Given the description of an element on the screen output the (x, y) to click on. 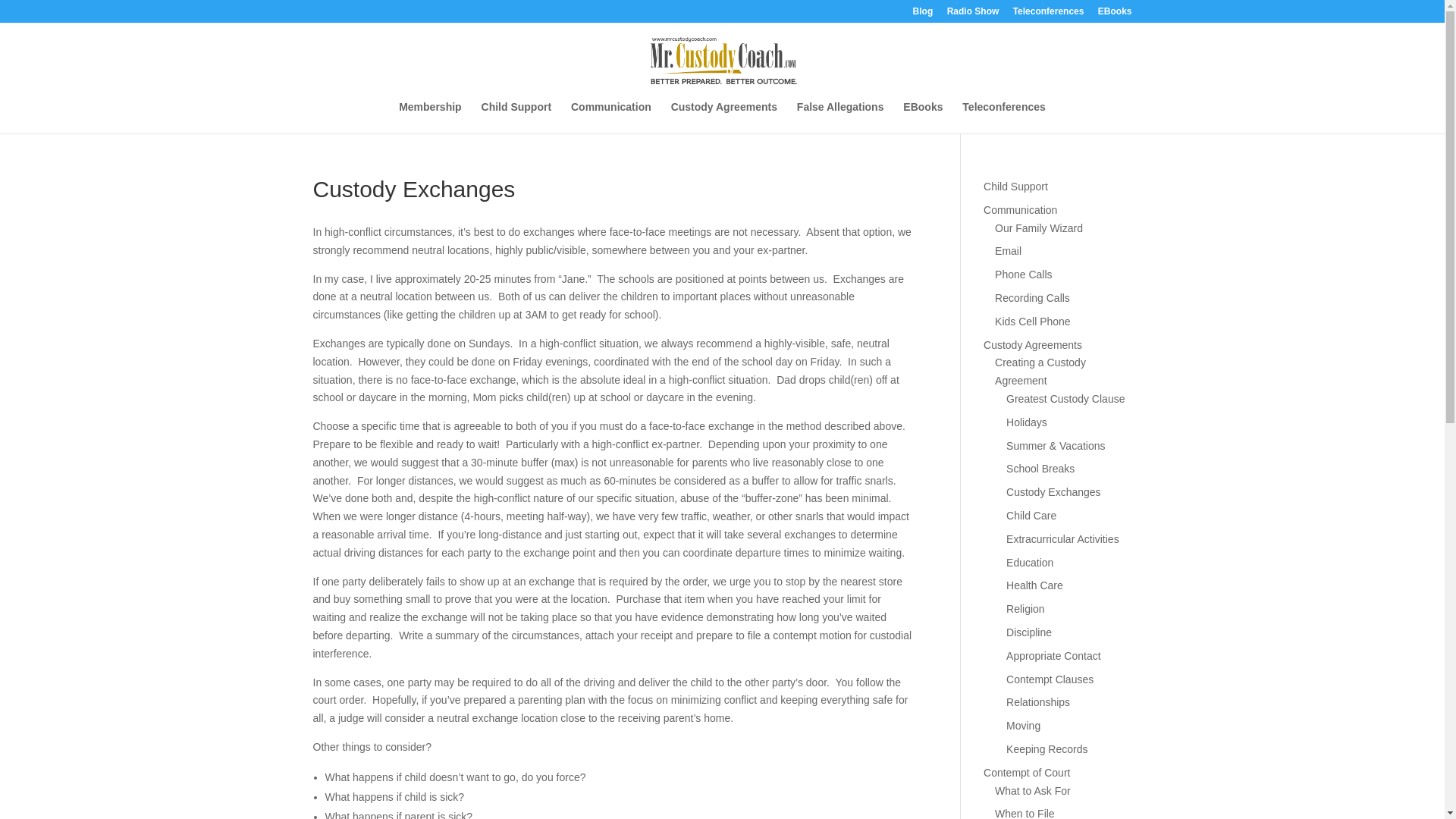
Custody Agreements (724, 117)
Phone Calls (1023, 274)
Custody Agreements (1032, 345)
Recording Calls (1032, 297)
Communication (1020, 209)
Membership (429, 117)
School Breaks (1040, 468)
Communication (610, 117)
False Allegations (839, 117)
Our Family Wizard (1038, 227)
